Given the description of an element on the screen output the (x, y) to click on. 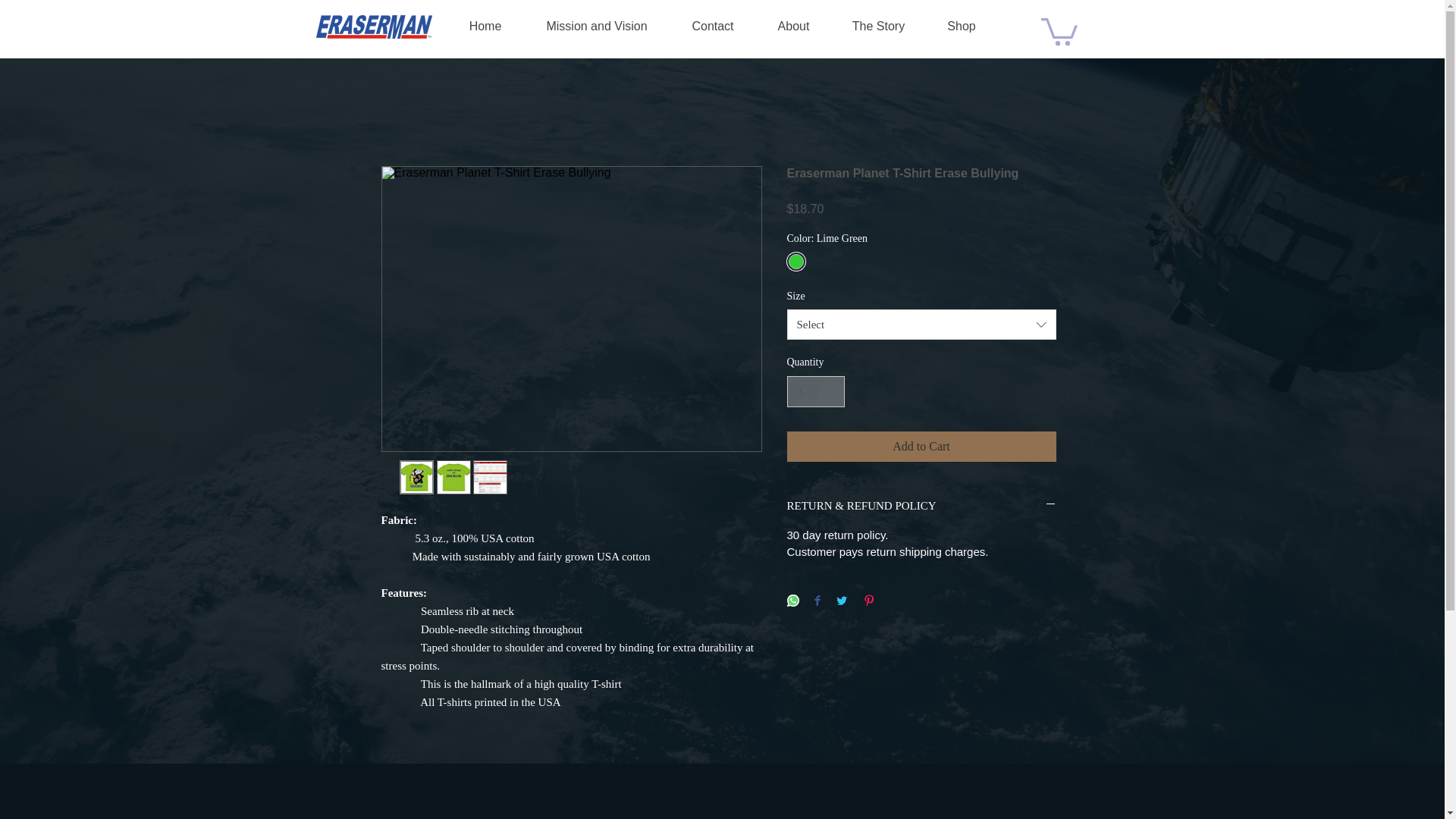
Shop (960, 26)
1 (815, 391)
Mission and Vision (595, 26)
Add to Cart (922, 446)
About (793, 26)
Contact (712, 26)
The Story (877, 26)
Select (922, 324)
Home (484, 26)
